Given the description of an element on the screen output the (x, y) to click on. 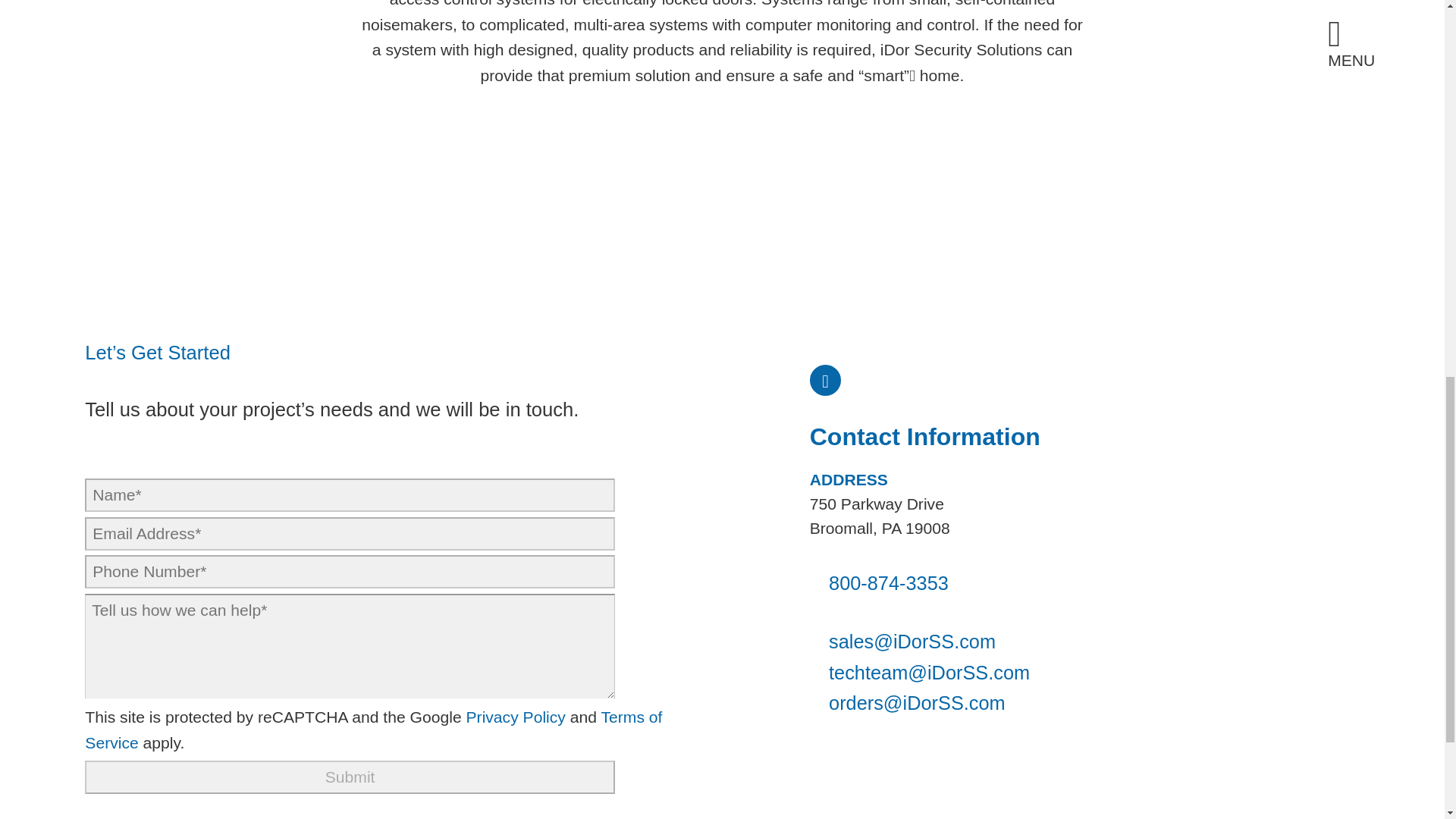
Submit (349, 776)
Submit (349, 776)
800-874-3353 (879, 582)
Terms of Service (373, 729)
Privacy Policy (515, 716)
